Given the description of an element on the screen output the (x, y) to click on. 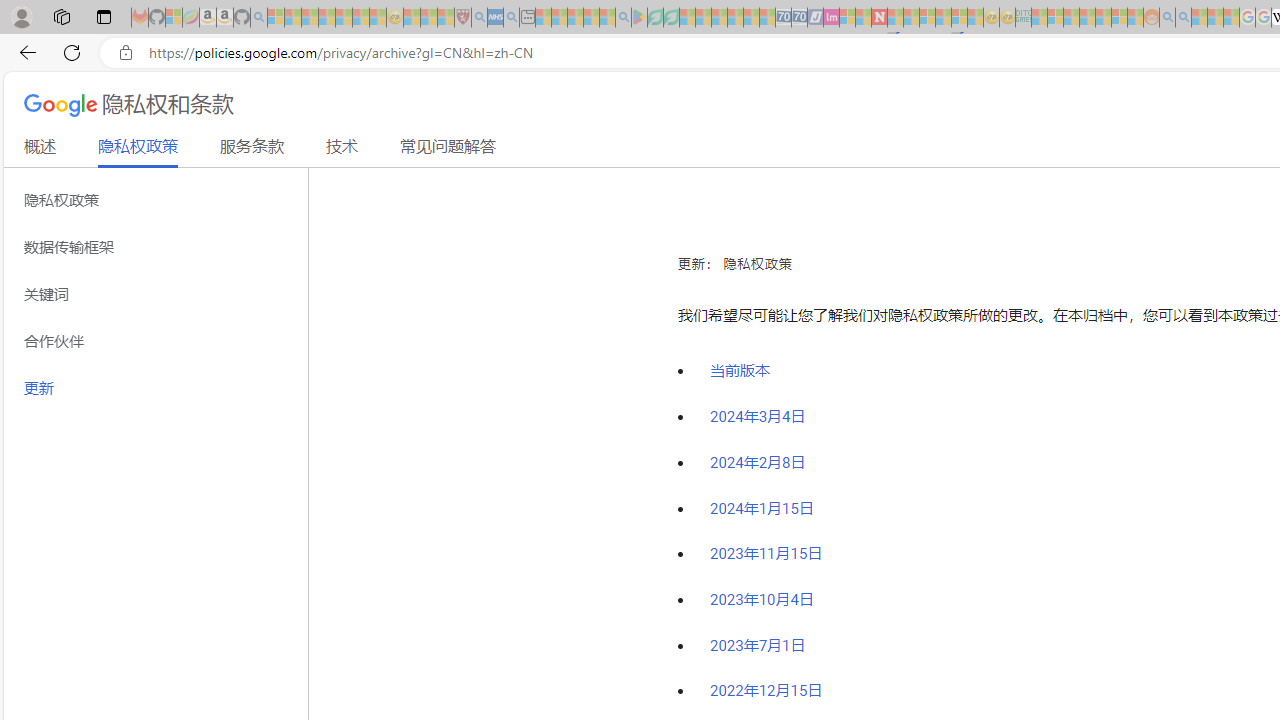
Utah sues federal government - Search - Sleeping (1183, 17)
Jobs - lastminute.com Investor Portal - Sleeping (831, 17)
Bluey: Let's Play! - Apps on Google Play - Sleeping (639, 17)
Trusted Community Engagement and Contributions | Guidelines (895, 17)
